Given the description of an element on the screen output the (x, y) to click on. 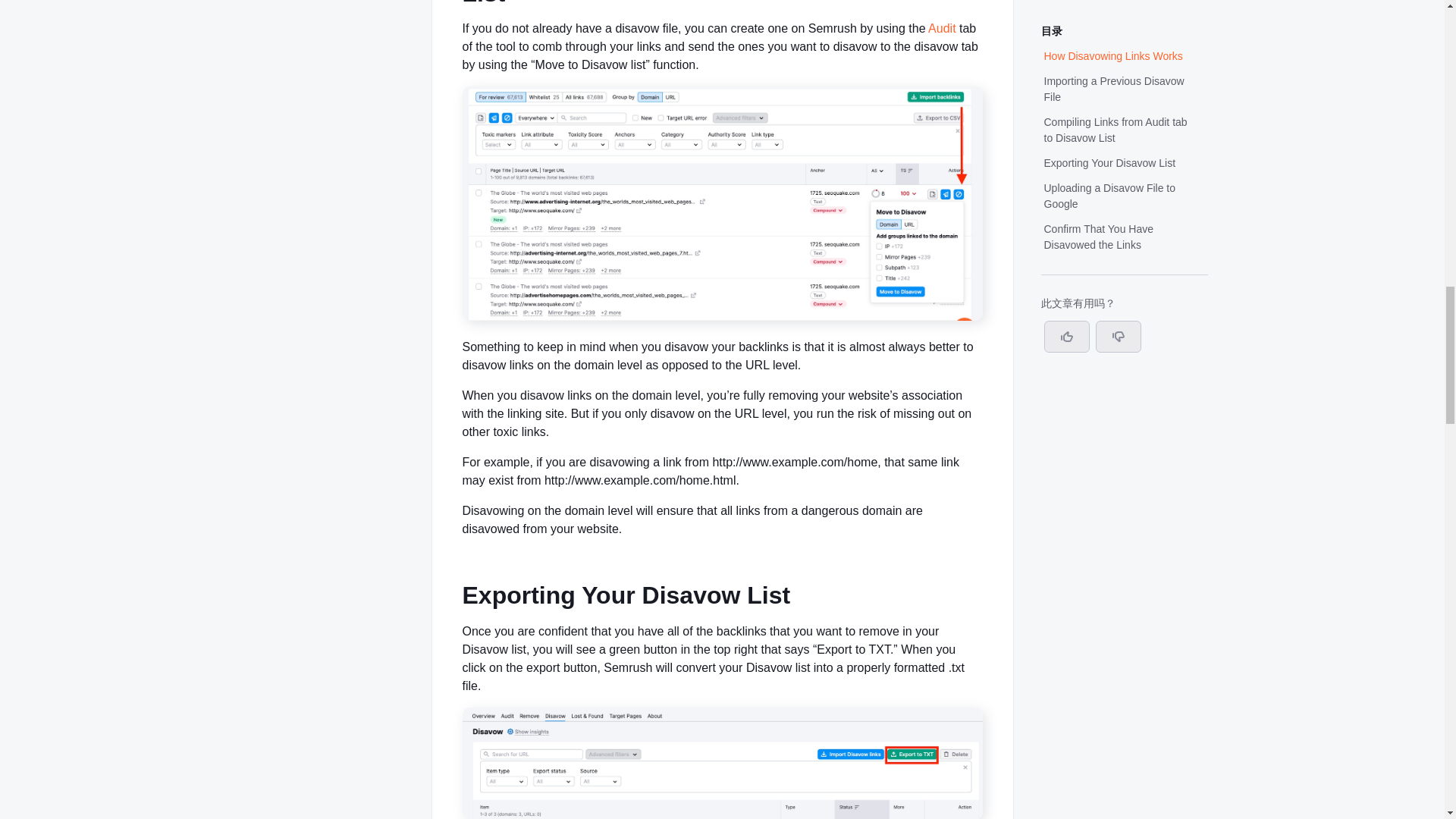
The export to txt button is highlighted.  (722, 814)
A red arrow points towards the move to disavow button.  (722, 316)
